Given the description of an element on the screen output the (x, y) to click on. 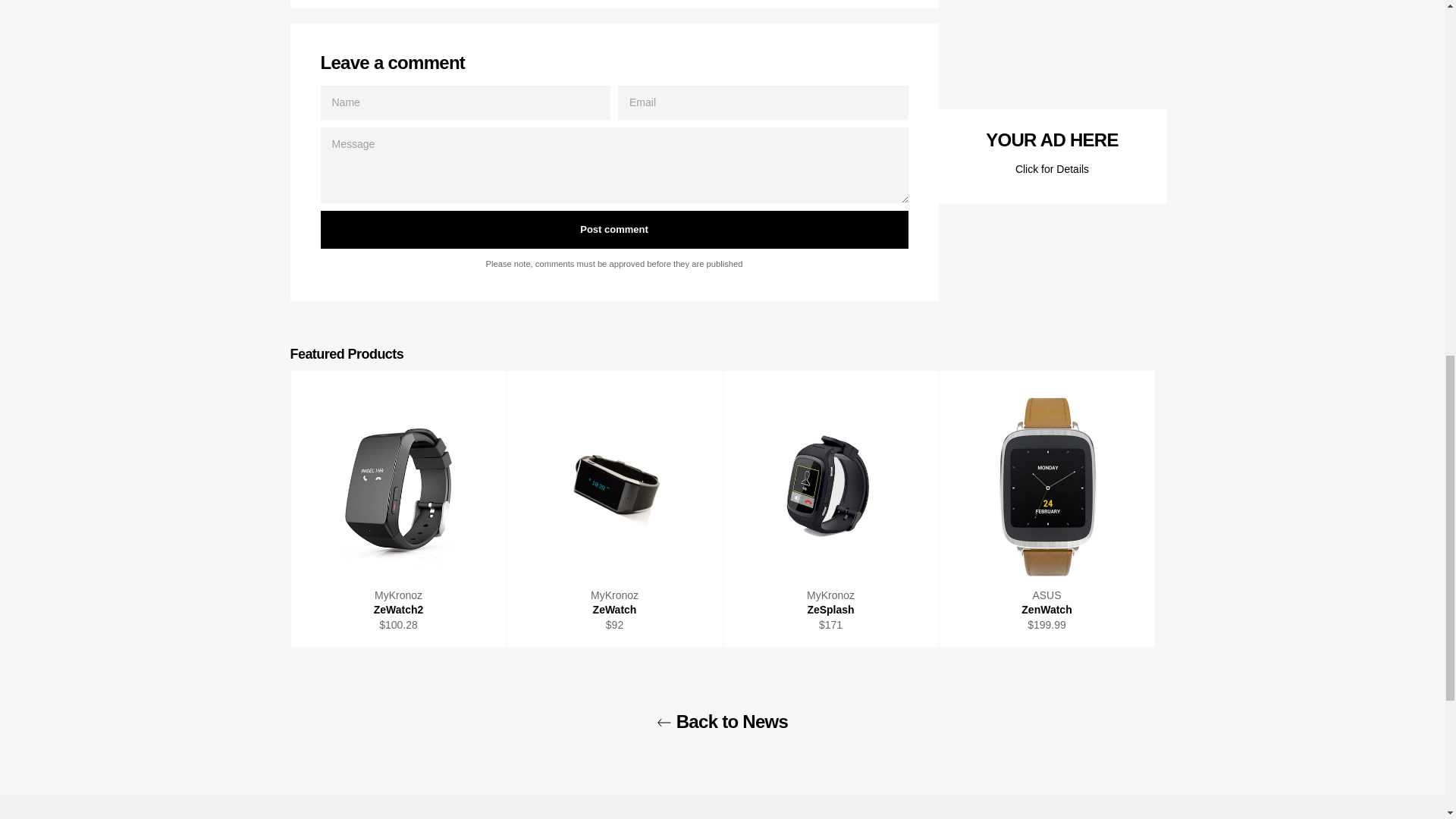
Post comment (613, 229)
